Given the description of an element on the screen output the (x, y) to click on. 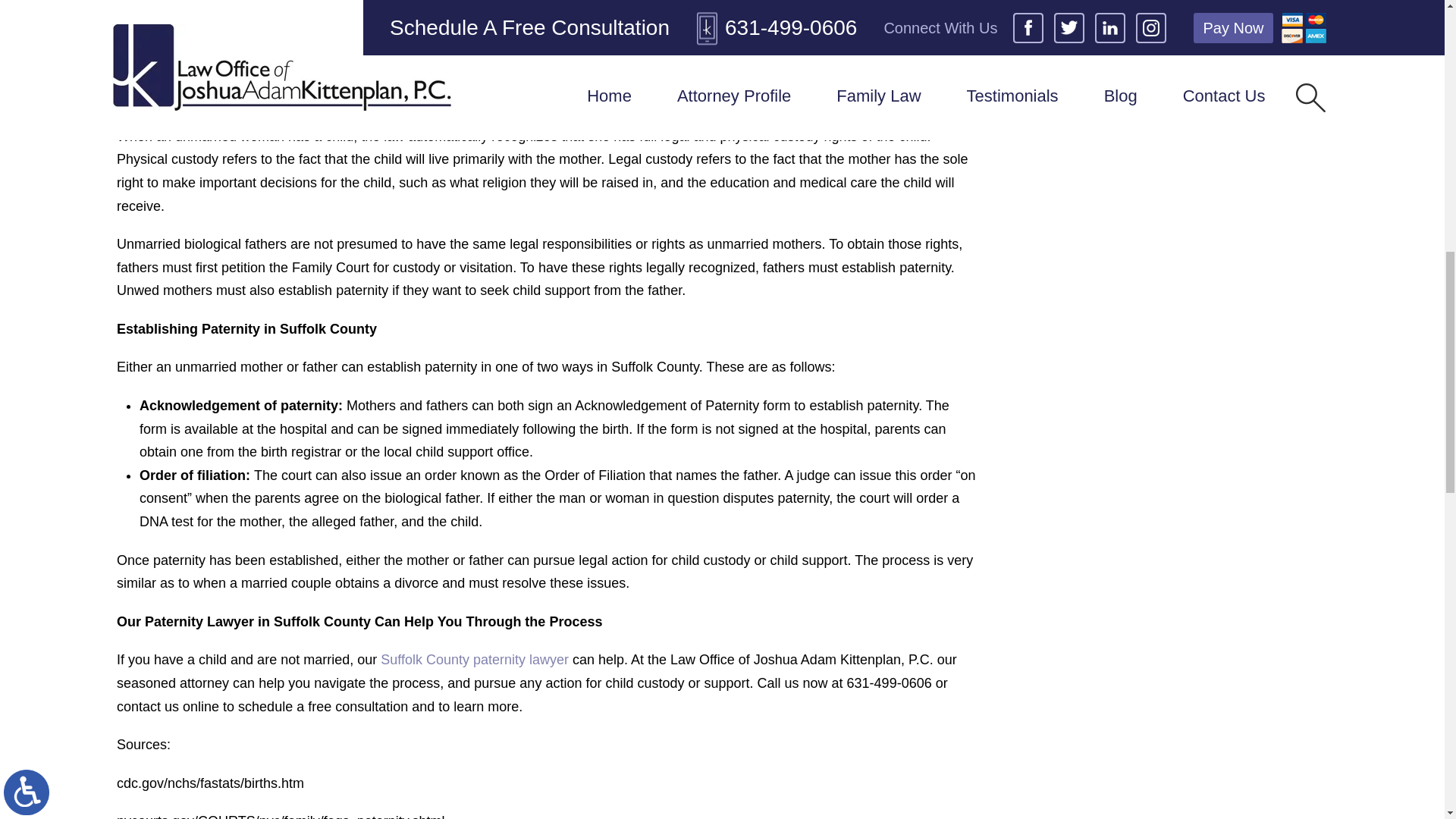
FatherSon (191, 12)
